Given the description of an element on the screen output the (x, y) to click on. 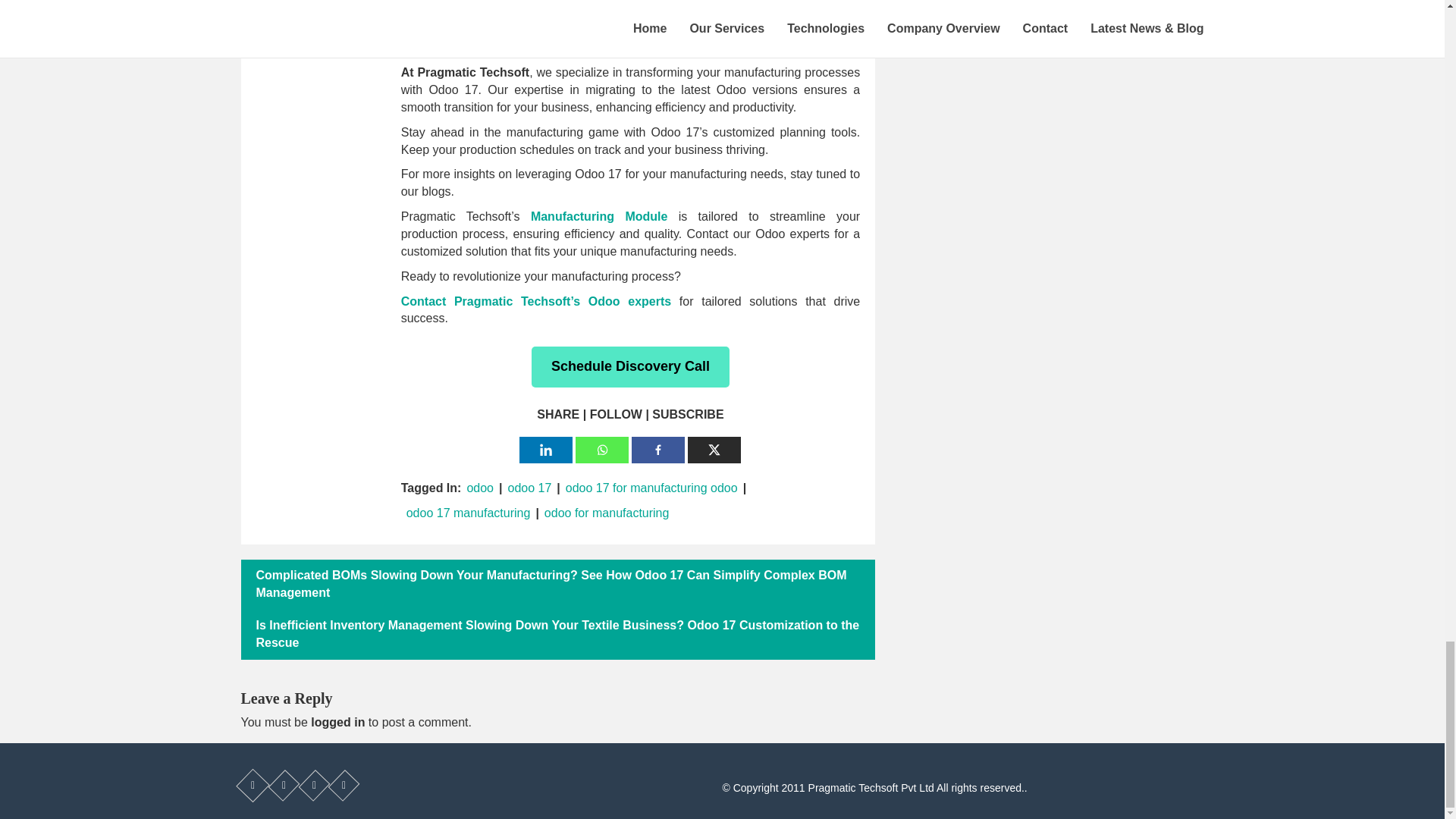
Schedule Discovery Call (630, 366)
odoo 17 manufacturing (468, 513)
logged in (338, 721)
odoo 17 for manufacturing odoo (651, 488)
Manufacturing Module (599, 215)
Linkedin (545, 449)
X (714, 449)
odoo 17 (529, 488)
